Given the description of an element on the screen output the (x, y) to click on. 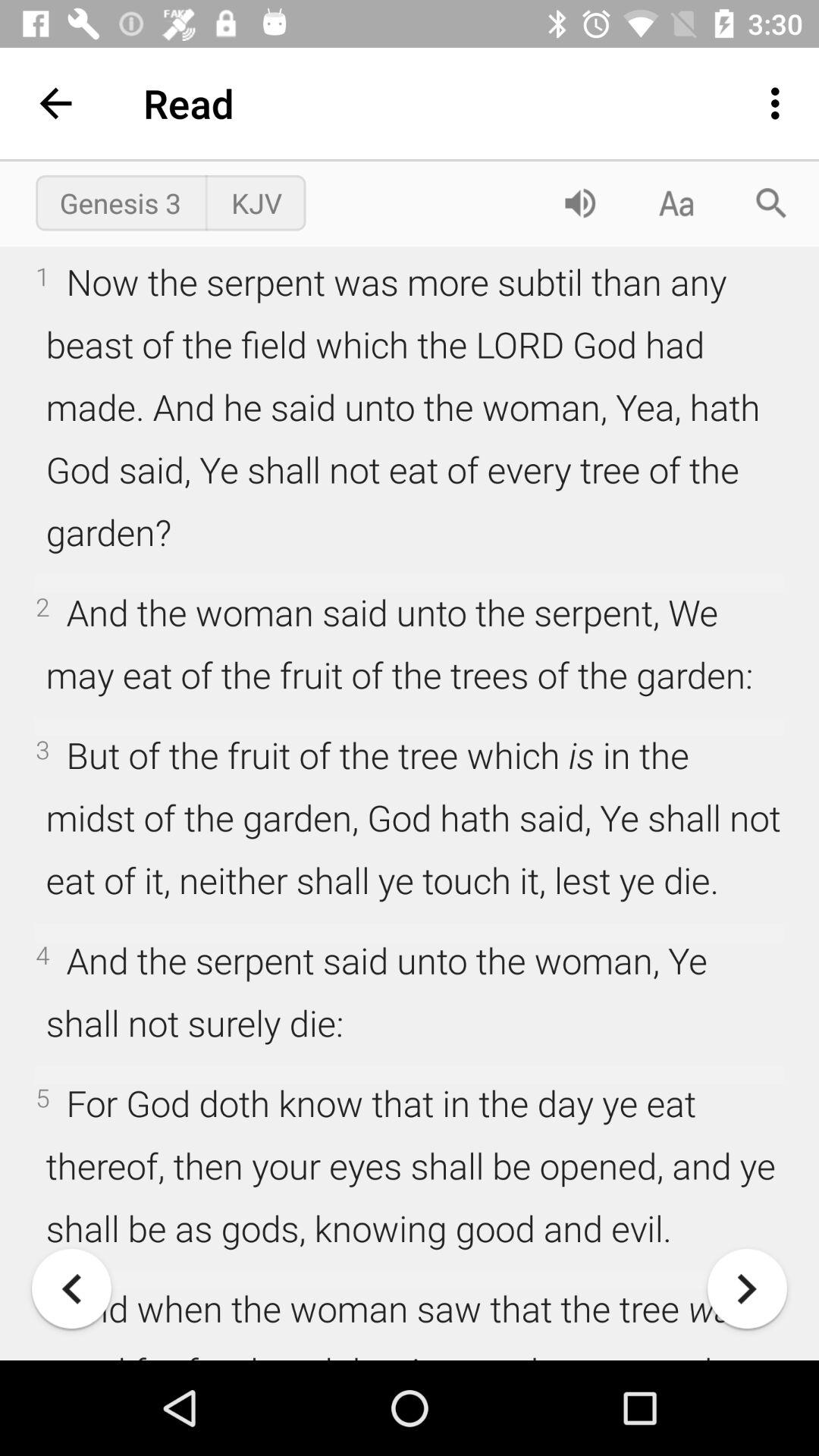
select app to the left of the read item (55, 103)
